Given the description of an element on the screen output the (x, y) to click on. 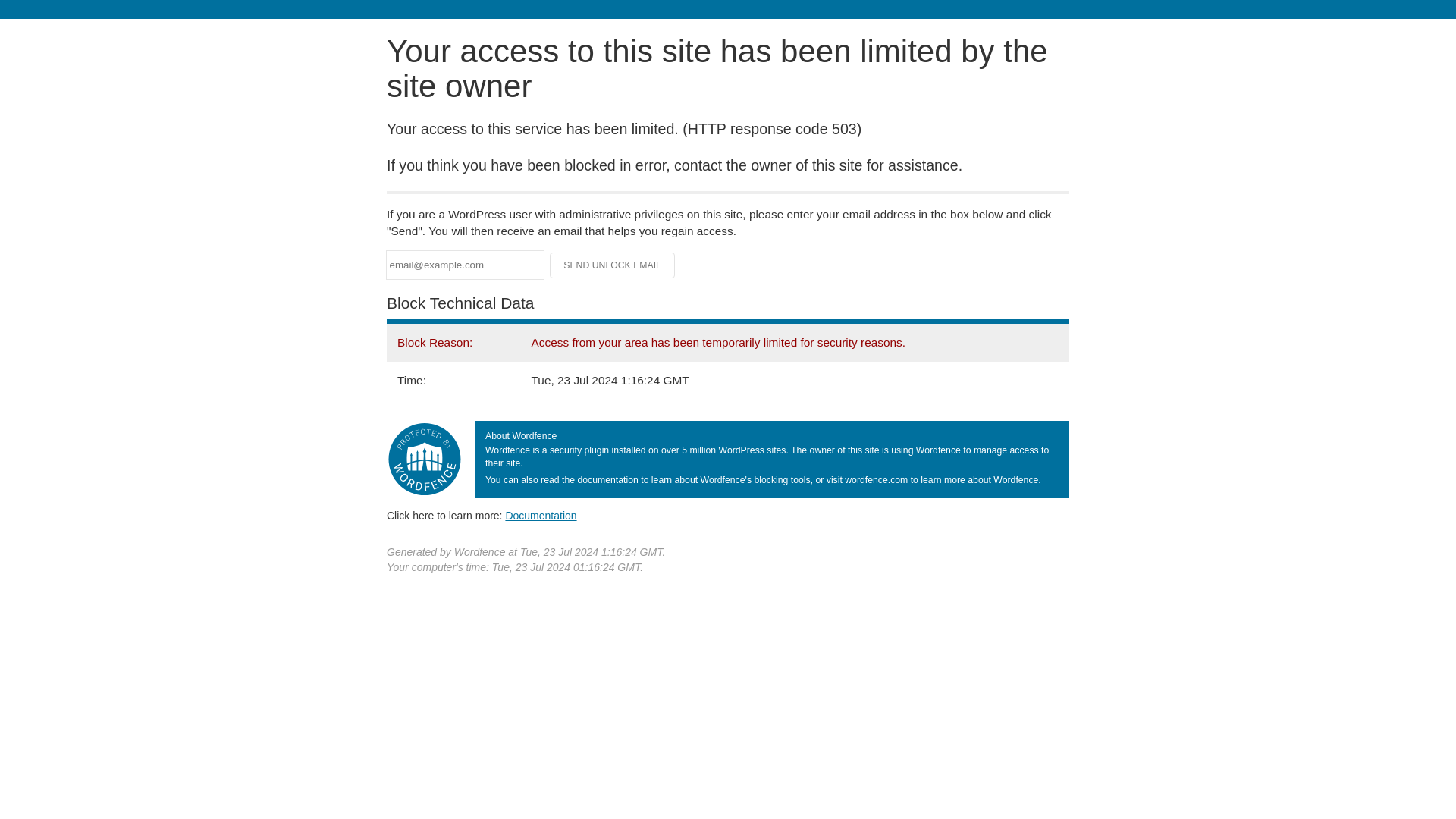
Send Unlock Email (612, 265)
Send Unlock Email (612, 265)
Documentation (540, 515)
